Given the description of an element on the screen output the (x, y) to click on. 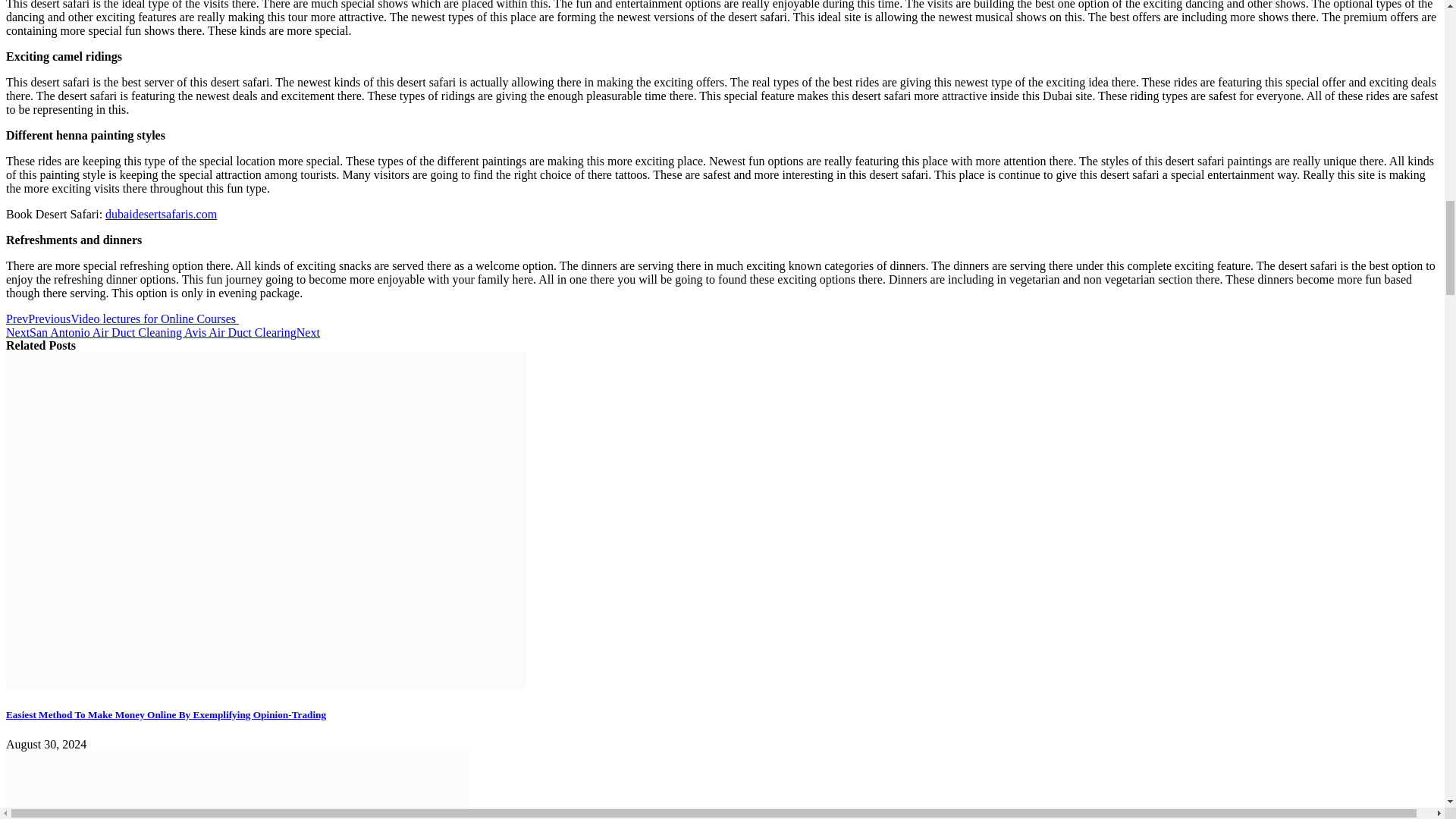
PrevPreviousVideo lectures for Online Courses  (121, 318)
dubaidesertsafaris.com (160, 214)
NextSan Antonio Air Duct Cleaning Avis Air Duct ClearingNext (162, 332)
